Given the description of an element on the screen output the (x, y) to click on. 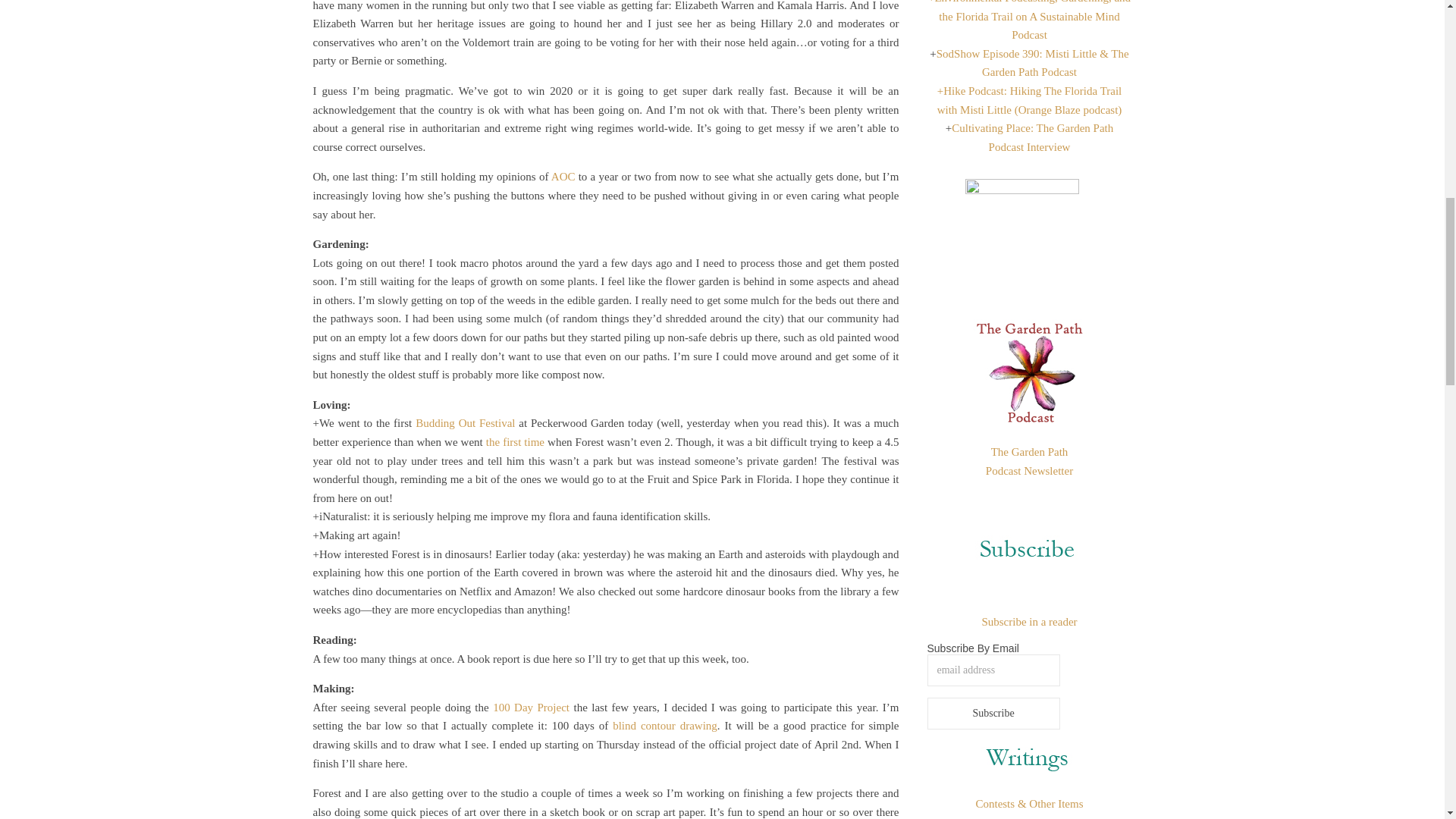
the first time (515, 441)
blind contour drawing (664, 725)
Subscribe to my feed (1029, 621)
AOC (563, 176)
100 Day Project (531, 707)
Budding Out Festival (464, 422)
Subscribe (992, 713)
